Given the description of an element on the screen output the (x, y) to click on. 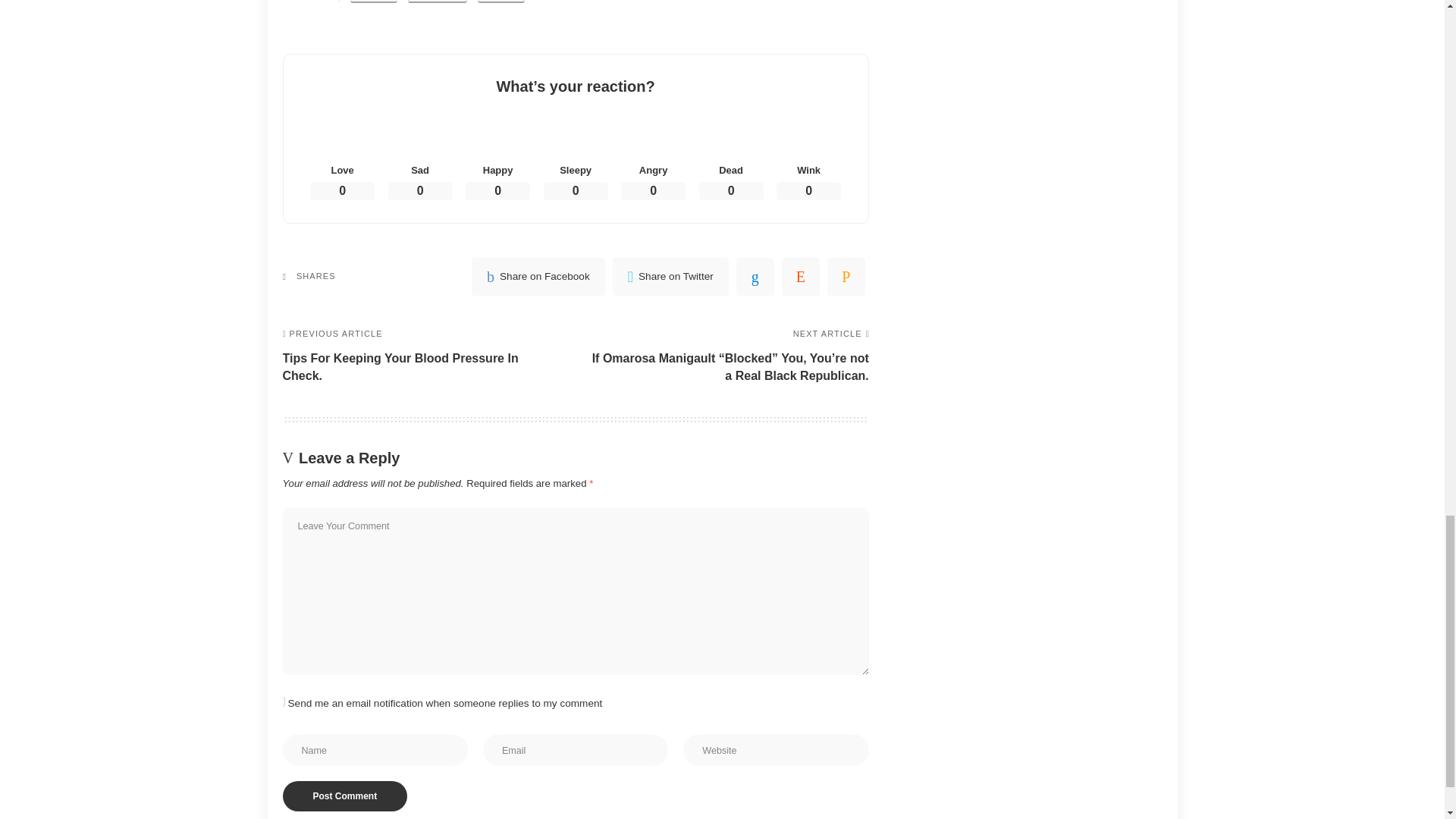
Facebook (538, 276)
Post Comment (344, 796)
Share on Twitter (373, 1)
Share on Facebook (437, 1)
Share by email to a friend (500, 1)
1 (279, 701)
Twitter (670, 276)
